Given the description of an element on the screen output the (x, y) to click on. 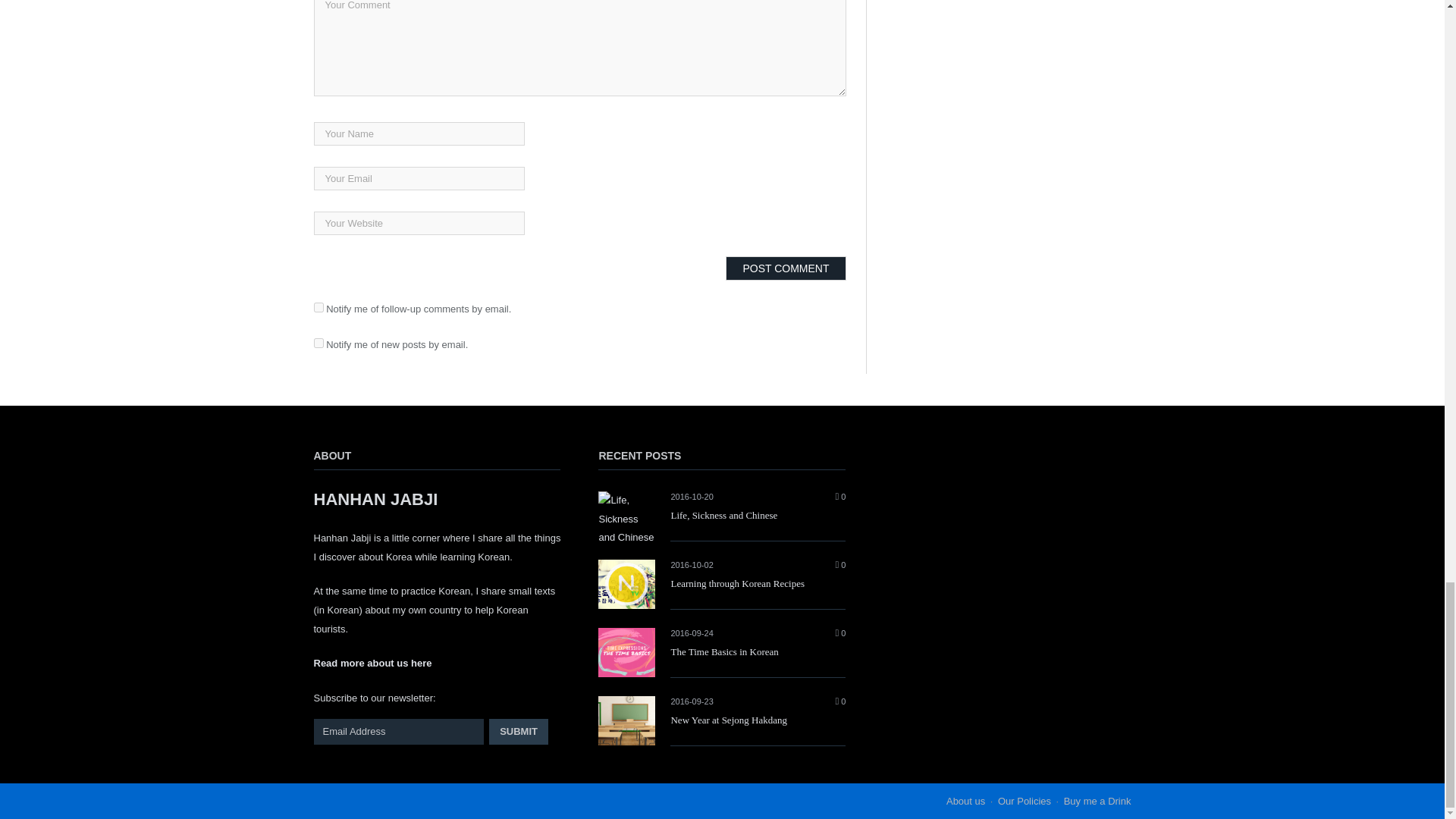
subscribe (318, 307)
subscribe (318, 343)
SUBMIT (518, 731)
Post Comment (785, 268)
